Given the description of an element on the screen output the (x, y) to click on. 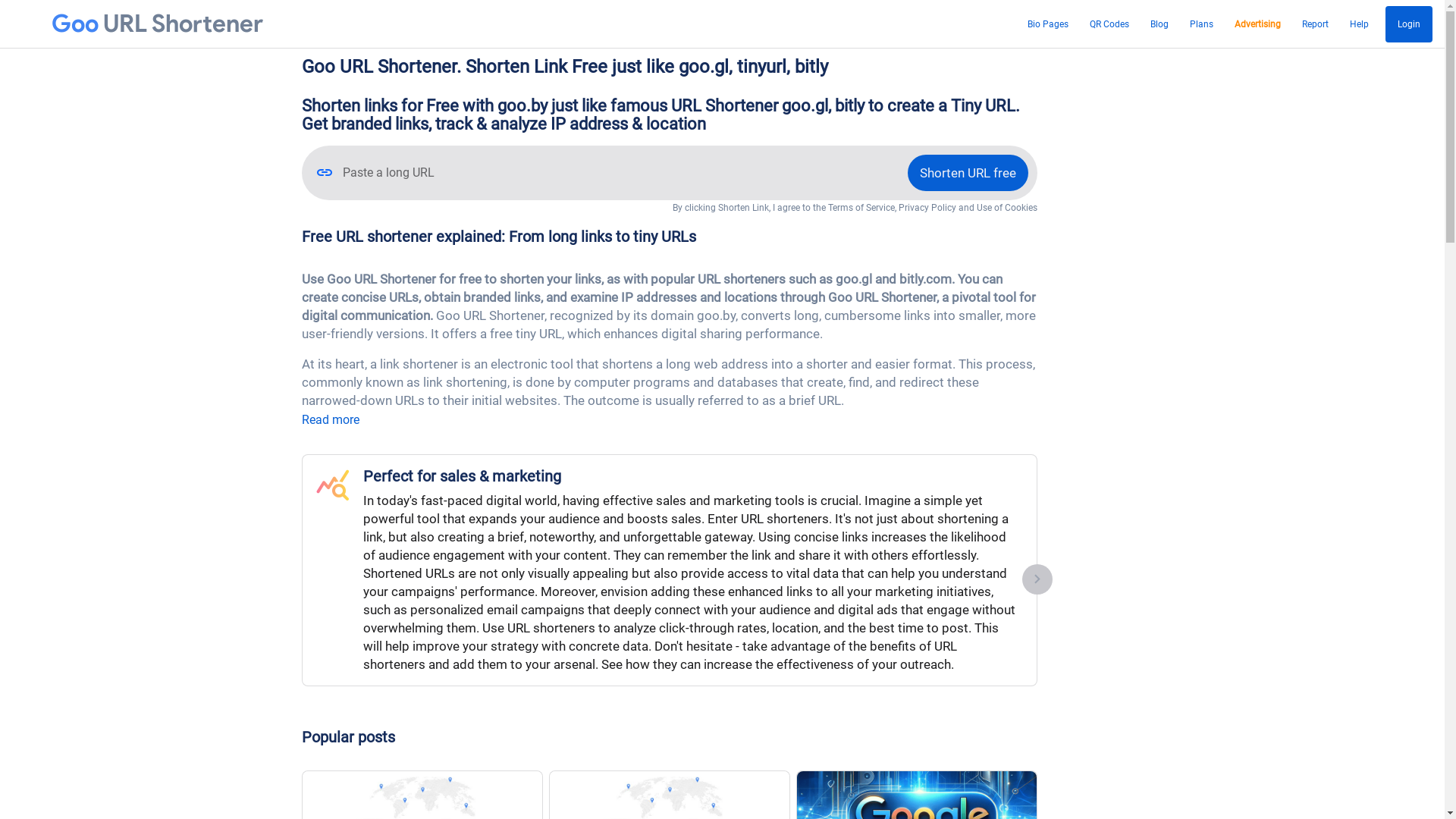
Plans Element type: text (1201, 24)
Bio Pages Element type: text (1047, 24)
Report Element type: text (1315, 24)
QR Codes Element type: text (1109, 24)
Read more Element type: text (330, 419)
Login Element type: text (1408, 24)
Shorten URL free Element type: text (966, 172)
Blog Element type: text (1159, 24)
Advertising Element type: text (1257, 24)
Help Element type: text (1359, 24)
